Given the description of an element on the screen output the (x, y) to click on. 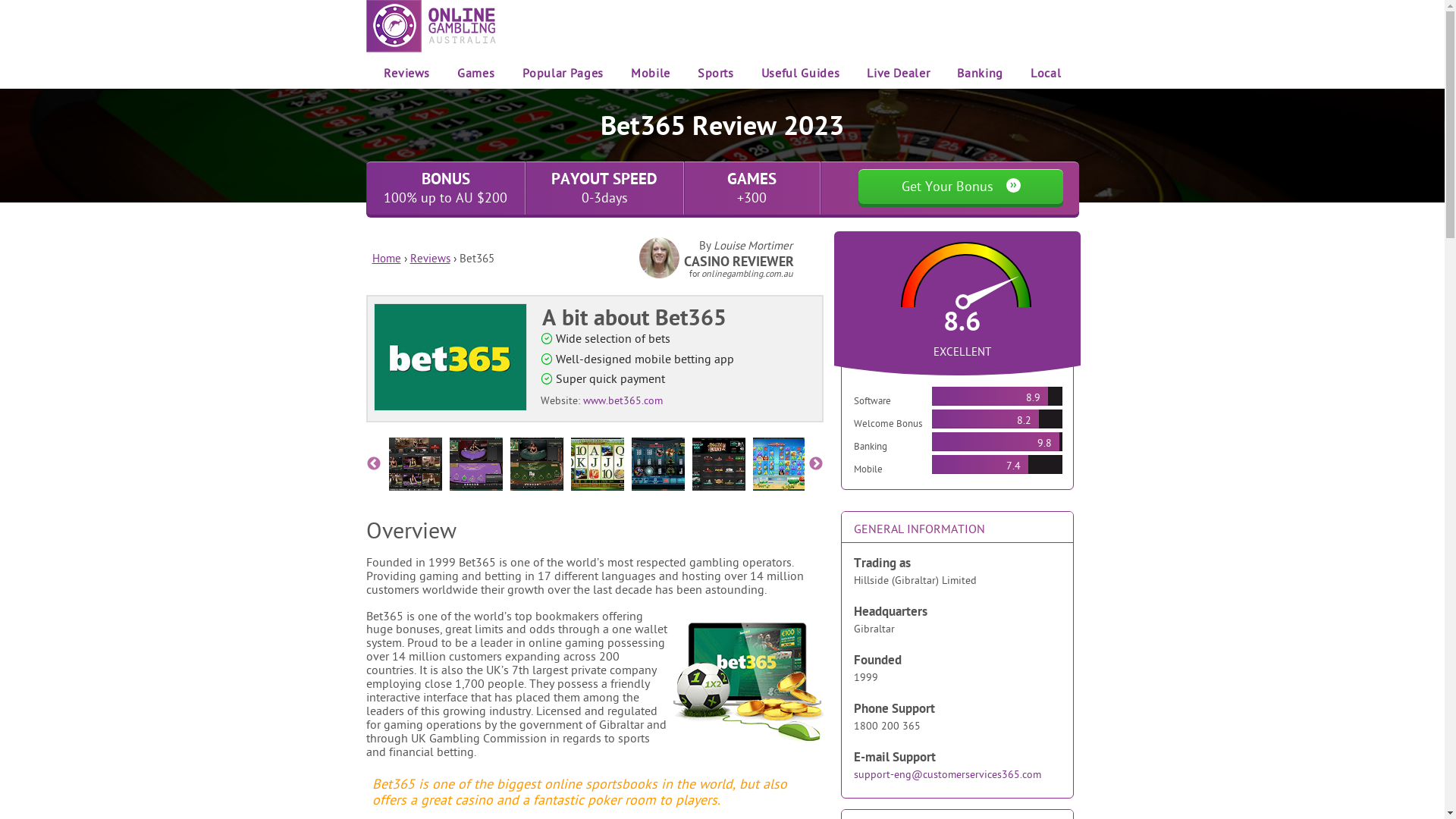
Home Element type: text (385, 258)
Previous Element type: text (372, 463)
Sunset Beach Element type: hover (778, 463)
Streak of Luck Slot Element type: hover (717, 463)
Popular Pages Element type: text (562, 72)
Frankie Dettori's Magic Seven Element type: hover (596, 463)
Reviews Element type: text (406, 72)
Blackjack table at bet365 Element type: hover (535, 463)
Sports Element type: text (715, 72)
Iron man 3 Slots Element type: hover (657, 463)
Live Dealer Element type: text (897, 72)
Next Element type: text (815, 463)
1800 200 365 Element type: text (886, 725)
Reviews Element type: text (429, 258)
Games Element type: text (475, 72)
Mobile Element type: text (650, 72)
Live Casino games at bet365 Element type: hover (414, 463)
Useful Guides Element type: text (800, 72)
Local Element type: text (1045, 72)
Online Gambling Element type: hover (430, 26)
Live Blackjack table Element type: hover (475, 463)
support-eng@customerservices365.com Element type: text (947, 774)
Banking Element type: text (979, 72)
www.bet365.com Element type: text (622, 400)
Redeem your Bet365 bonus now Element type: hover (449, 357)
